Given the description of an element on the screen output the (x, y) to click on. 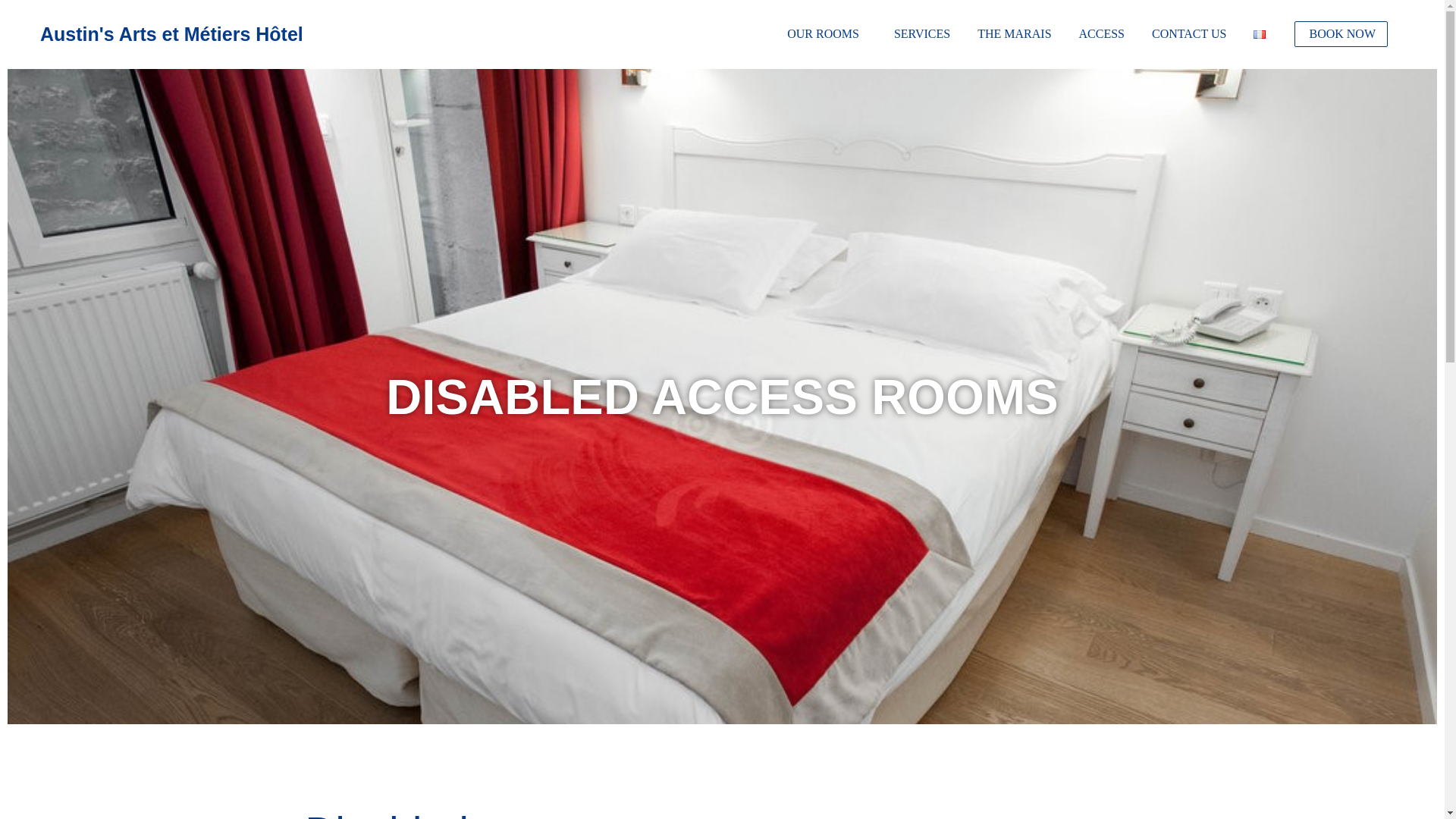
OUR ROOMS (826, 33)
ACCESS (1101, 33)
THE MARAIS (1014, 33)
BOOK NOW (1342, 33)
CONTACT US (1188, 33)
SERVICES (921, 33)
